Given the description of an element on the screen output the (x, y) to click on. 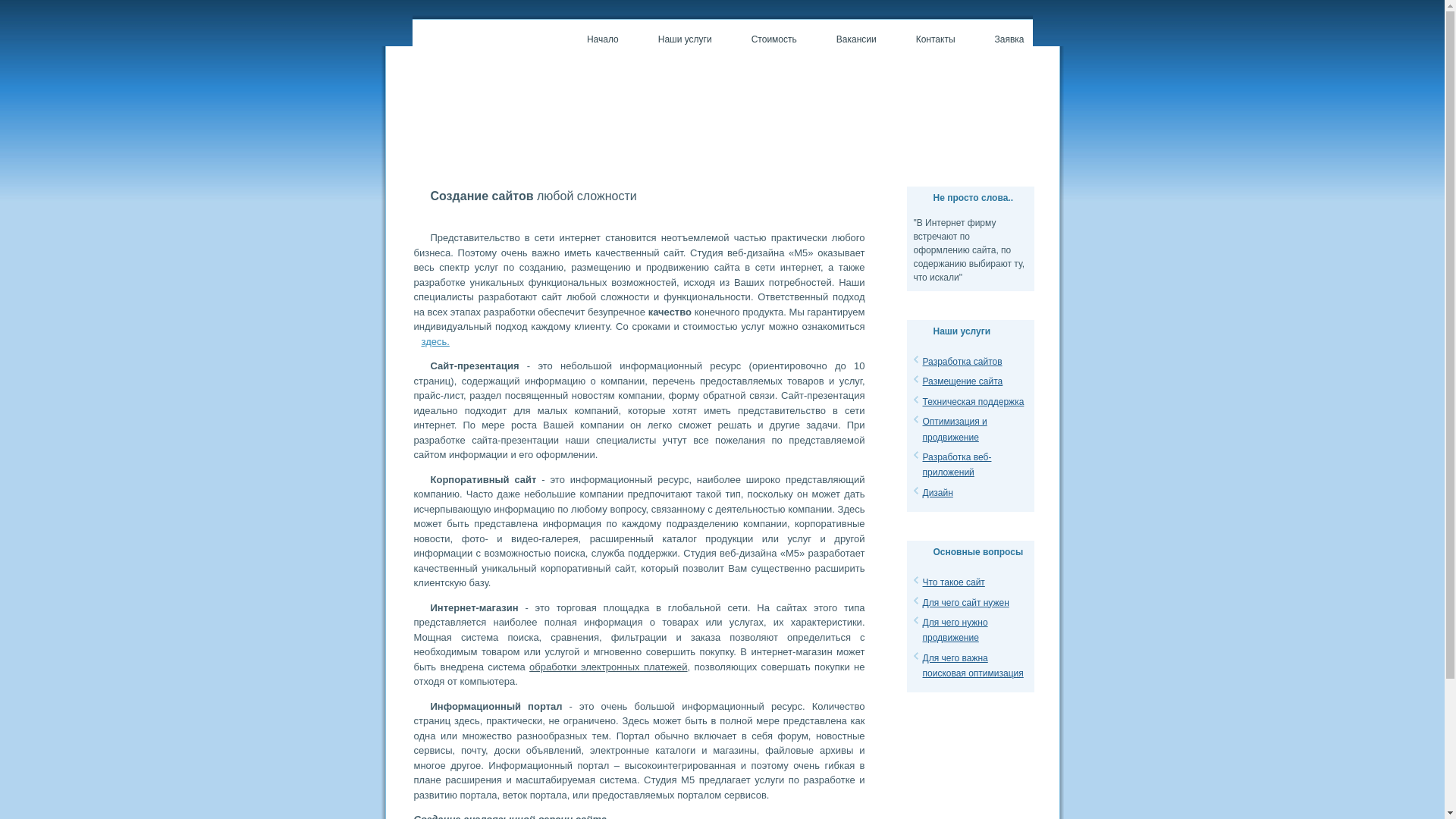
M5 Element type: text (481, 95)
